Given the description of an element on the screen output the (x, y) to click on. 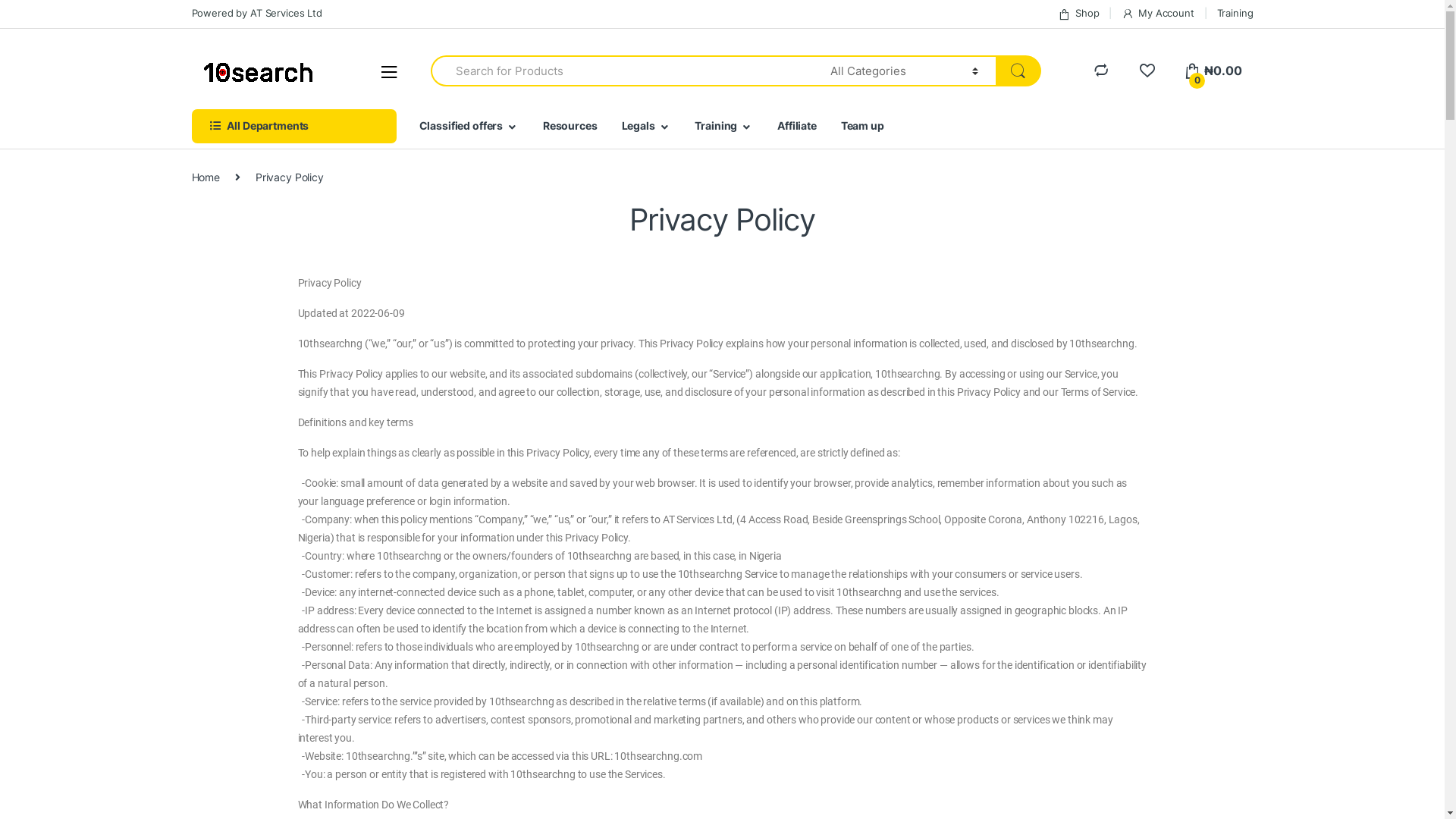
Powered by AT Services Ltd Element type: text (256, 13)
Training Element type: text (723, 126)
Classified offers Element type: text (468, 126)
Home Element type: text (205, 177)
All Departments Element type: text (293, 126)
Shop Element type: text (1077, 13)
Training Element type: text (1235, 13)
Affiliate Element type: text (796, 126)
My Account Element type: text (1157, 13)
Resources Element type: text (569, 126)
Legals Element type: text (646, 126)
Team up Element type: text (862, 126)
